Given the description of an element on the screen output the (x, y) to click on. 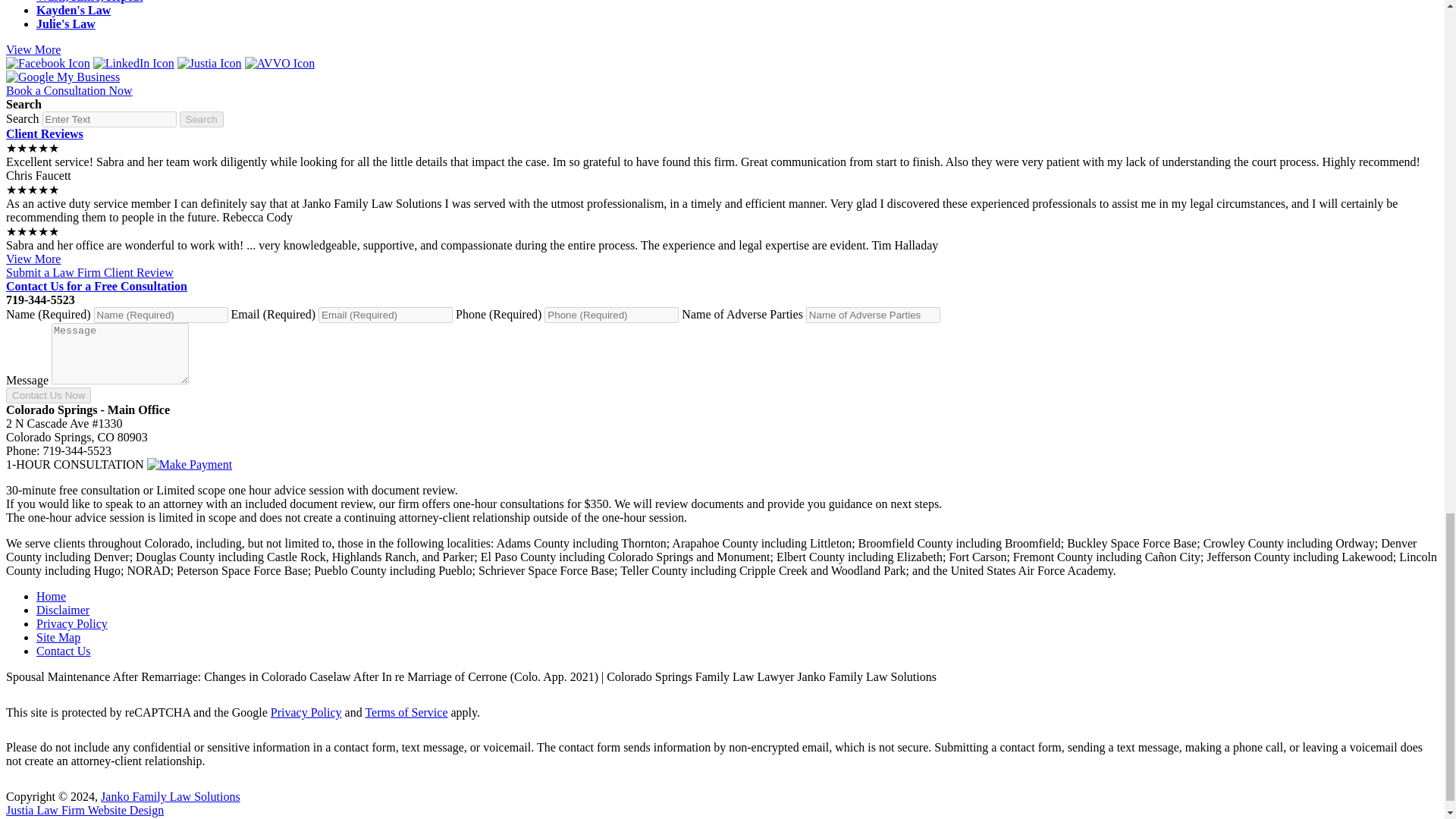
AVVO (279, 62)
Search (109, 119)
LinkedIn (133, 62)
Justia (209, 62)
Facebook (47, 62)
Message (119, 353)
